Given the description of an element on the screen output the (x, y) to click on. 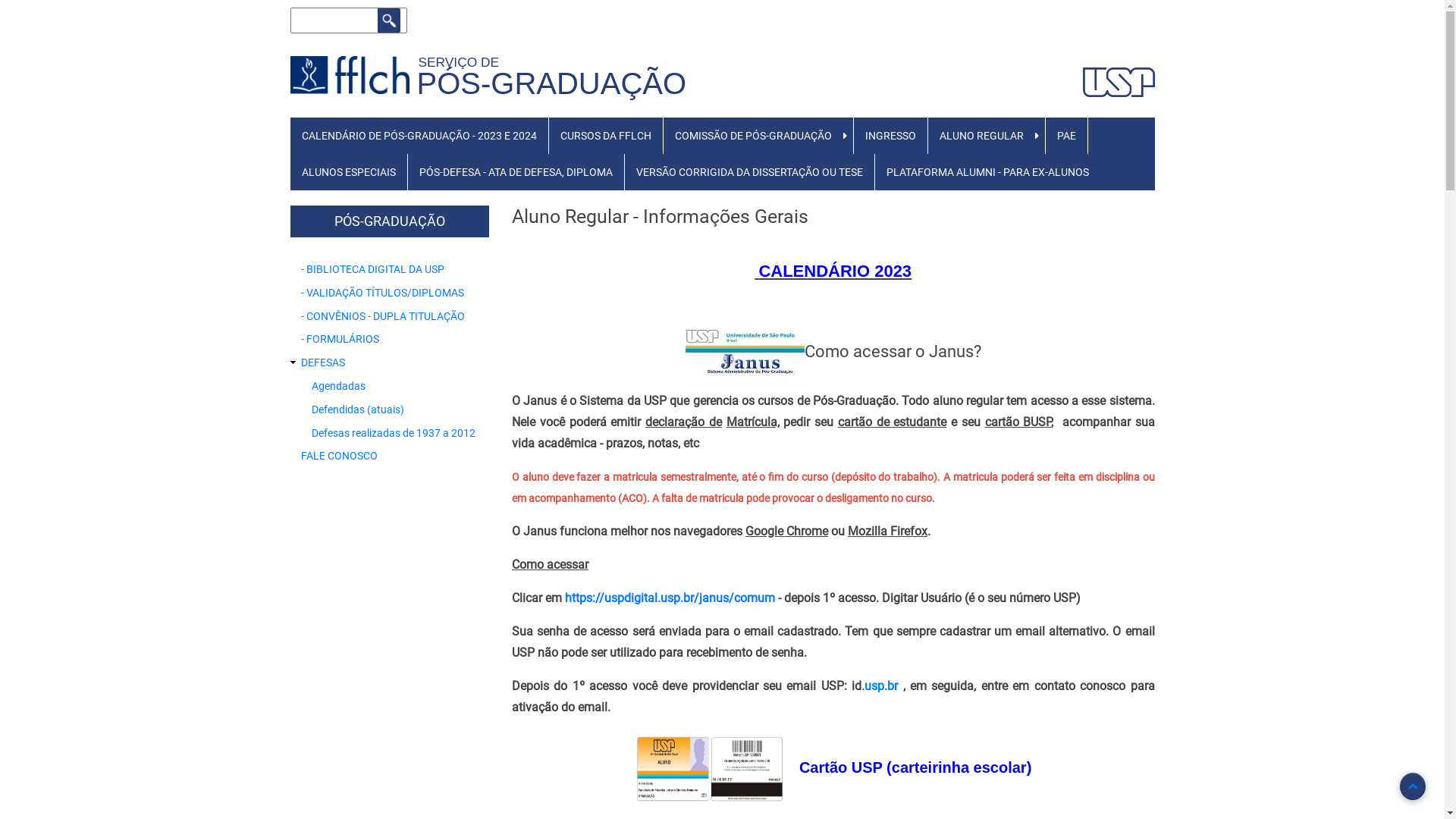
CURSOS DA FFLCH Element type: text (605, 135)
Buscar Element type: text (388, 20)
.usp.br Element type: text (879, 685)
INGRESSO Element type: text (890, 135)
FALE CONOSCO Element type: text (338, 455)
PAE Element type: text (1066, 135)
Agendadas Element type: text (337, 385)
PLATAFORMA ALUMNI - PARA EX-ALUNOS Element type: text (987, 171)
- BIBLIOTECA DIGITAL DA USP Element type: text (371, 269)
ALUNO REGULAR Element type: text (981, 135)
DEFESAS Element type: text (322, 362)
ALUNOS ESPECIAIS Element type: text (347, 171)
Defesas realizadas de 1937 a 2012 Element type: text (392, 432)
Defendidas (atuais) Element type: text (356, 409)
https://uspdigital.usp.br/janus/comum Element type: text (669, 597)
Back to Top Element type: hover (1412, 786)
